Given the description of an element on the screen output the (x, y) to click on. 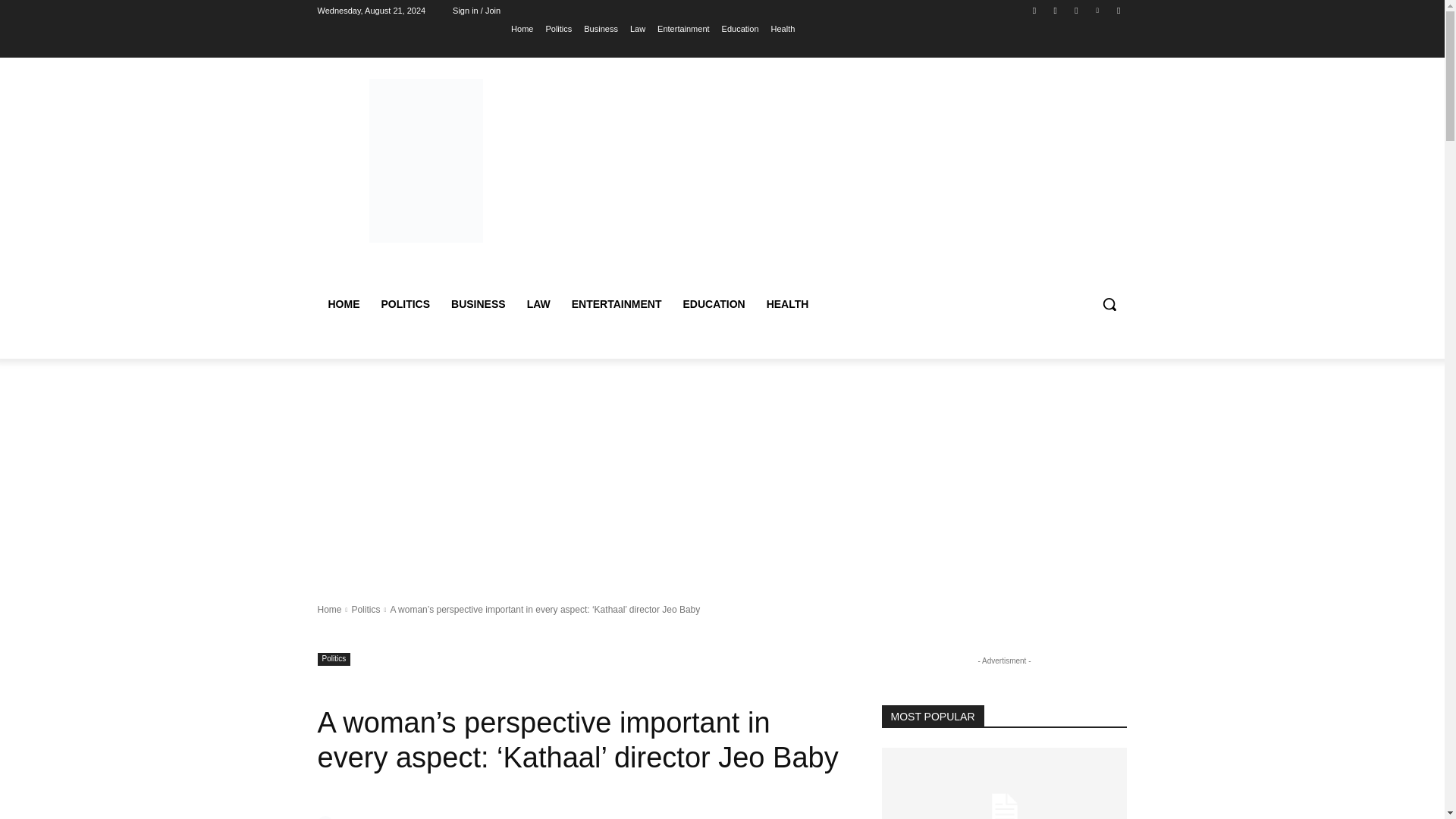
POLITICS (405, 303)
View all posts in Politics (365, 609)
HEALTH (787, 303)
HOME (343, 303)
Entertainment (683, 28)
Instagram (1055, 9)
Facebook (1034, 9)
AlJazeera (326, 817)
Twitter (1075, 9)
